Given the description of an element on the screen output the (x, y) to click on. 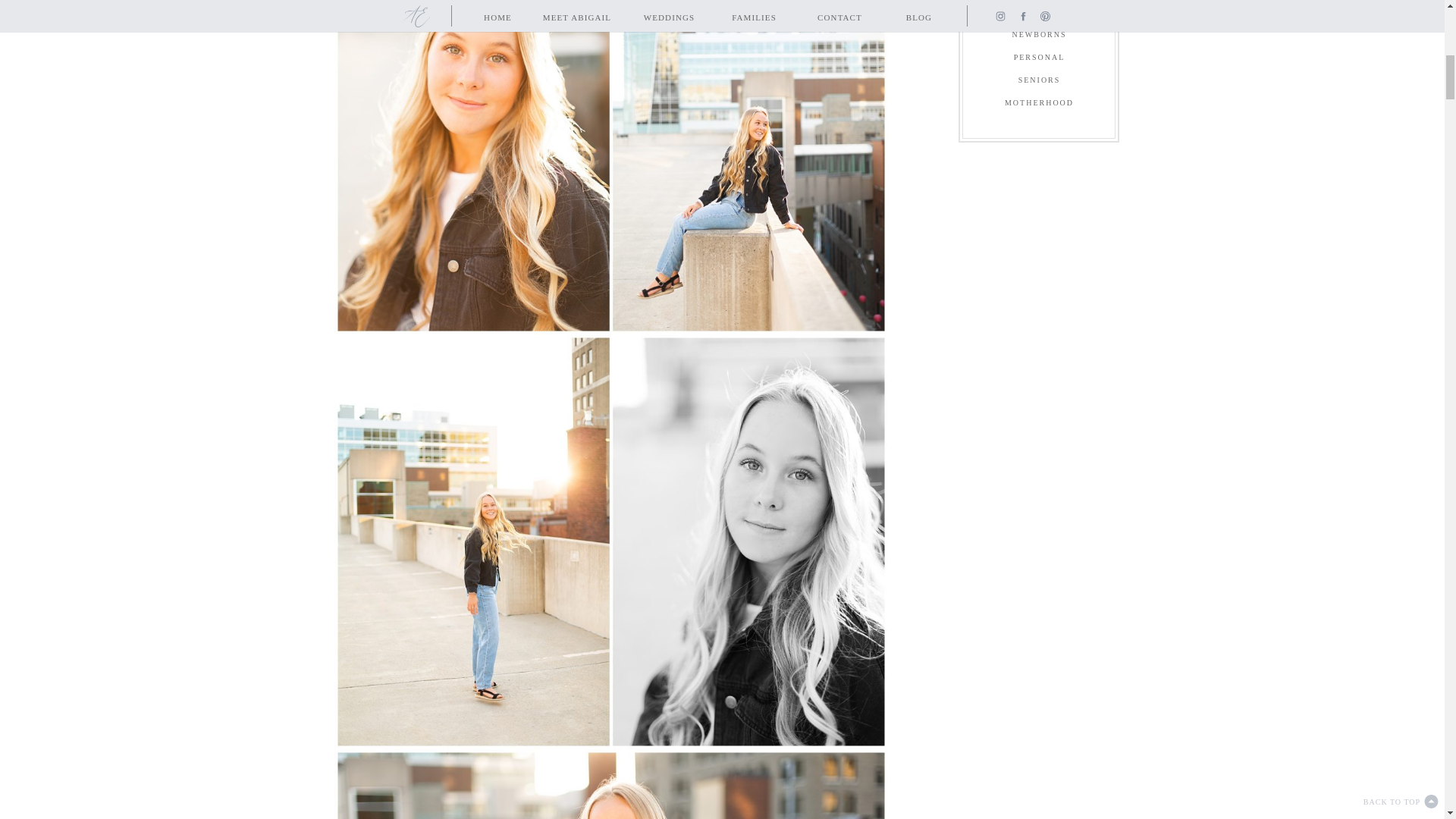
SENIORS (1038, 83)
MOTHERHOOD (1038, 106)
FAMILIES (1038, 14)
NEWBORNS (1038, 37)
ENGAGEMENTS (1038, 1)
PERSONAL (1038, 60)
